Given the description of an element on the screen output the (x, y) to click on. 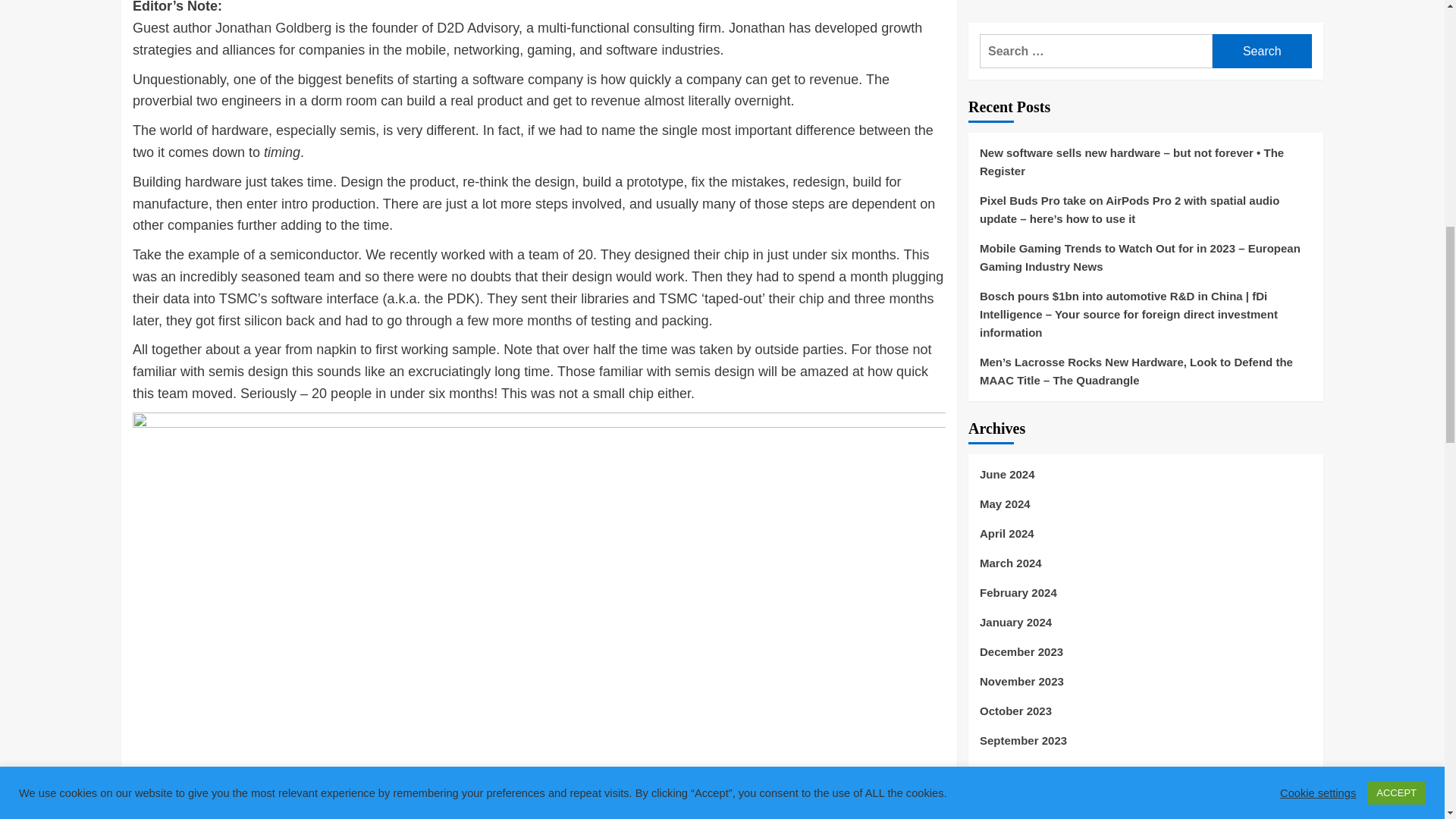
Jonathan Goldberg (273, 28)
